Given the description of an element on the screen output the (x, y) to click on. 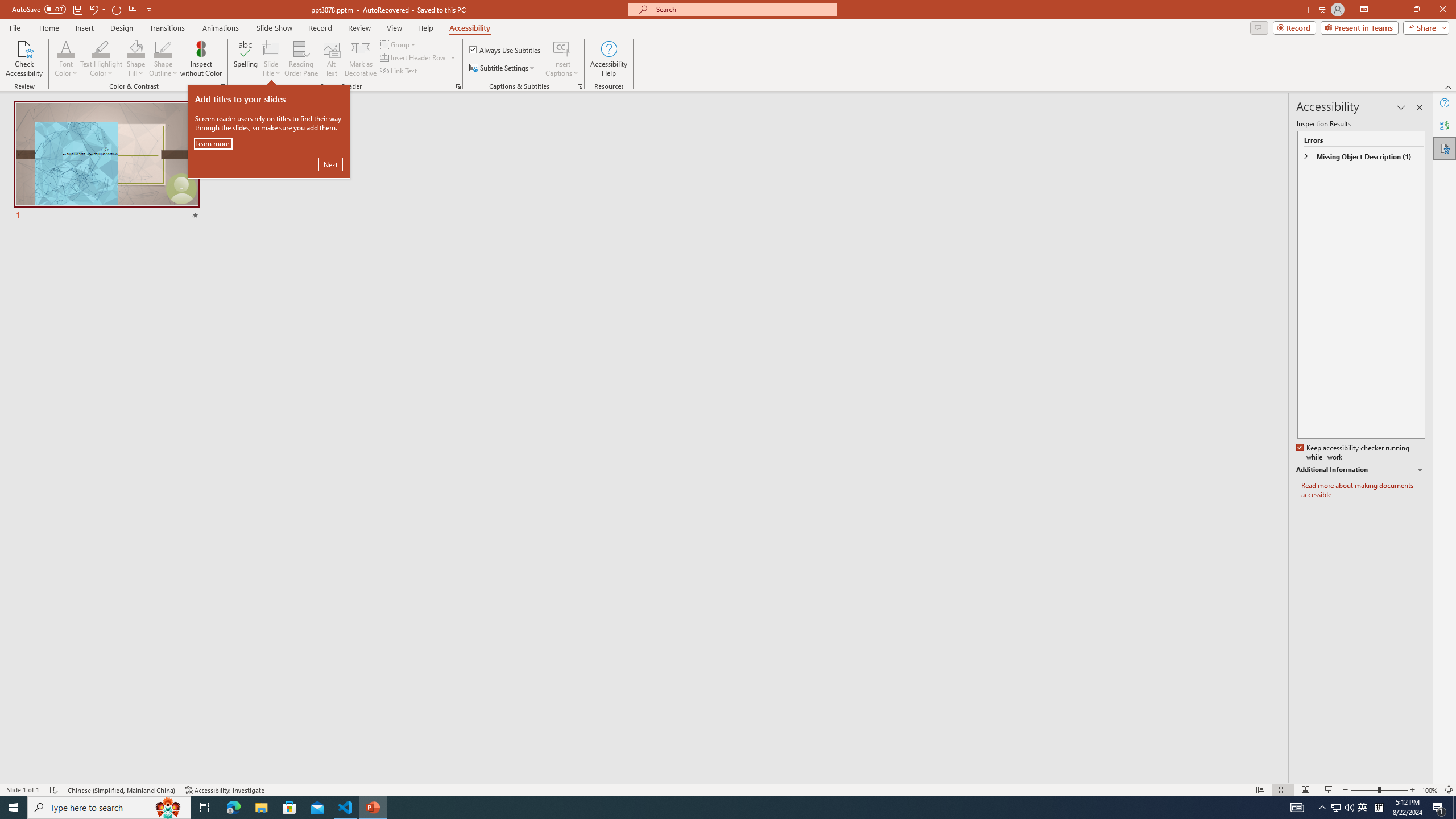
Group (398, 44)
Captions & Subtitles (580, 85)
Read more about making documents accessible (1363, 489)
Microsoft Edge (233, 807)
Slide Title (271, 58)
Spelling... (245, 58)
Zoom 100% (1430, 790)
